Given the description of an element on the screen output the (x, y) to click on. 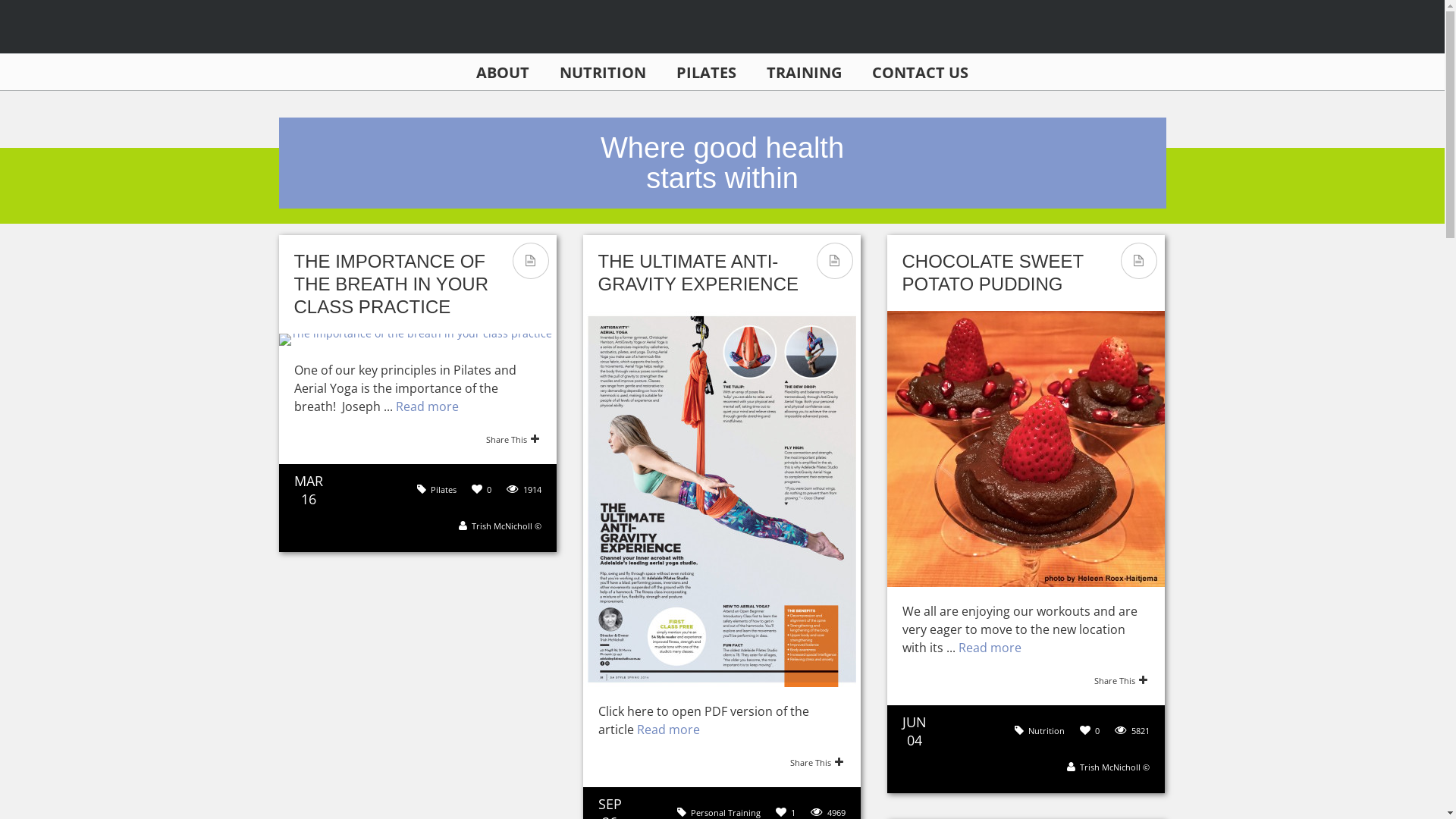
Nutrition Element type: text (1046, 730)
I like this article Element type: hover (1085, 729)
Pilates Element type: text (443, 489)
Personal Training Element type: text (724, 812)
standard Element type: hover (530, 260)
Read more Element type: text (668, 729)
ABOUT Element type: text (502, 72)
THE ULTIMATE ANTI-GRAVITY EXPERIENCE Element type: text (697, 272)
Read more Element type: text (426, 406)
PILATES Element type: text (706, 72)
The importance of the breath in your class practice Element type: hover (417, 339)
Chocolate Sweet Potato Pudding Element type: hover (1025, 448)
I like this article Element type: hover (477, 488)
Read more Element type: text (989, 647)
NUTRITION Element type: text (602, 72)
THE IMPORTANCE OF THE BREATH IN YOUR CLASS PRACTICE Element type: text (391, 283)
standard Element type: hover (833, 260)
CHOCOLATE SWEET POTATO PUDDING Element type: text (992, 272)
The Ultimate Anti-Gravity Experience Element type: hover (720, 498)
I like this article Element type: hover (781, 811)
TRAINING Element type: text (803, 72)
CONTACT US Element type: text (920, 72)
standard Element type: hover (1138, 260)
